Given the description of an element on the screen output the (x, y) to click on. 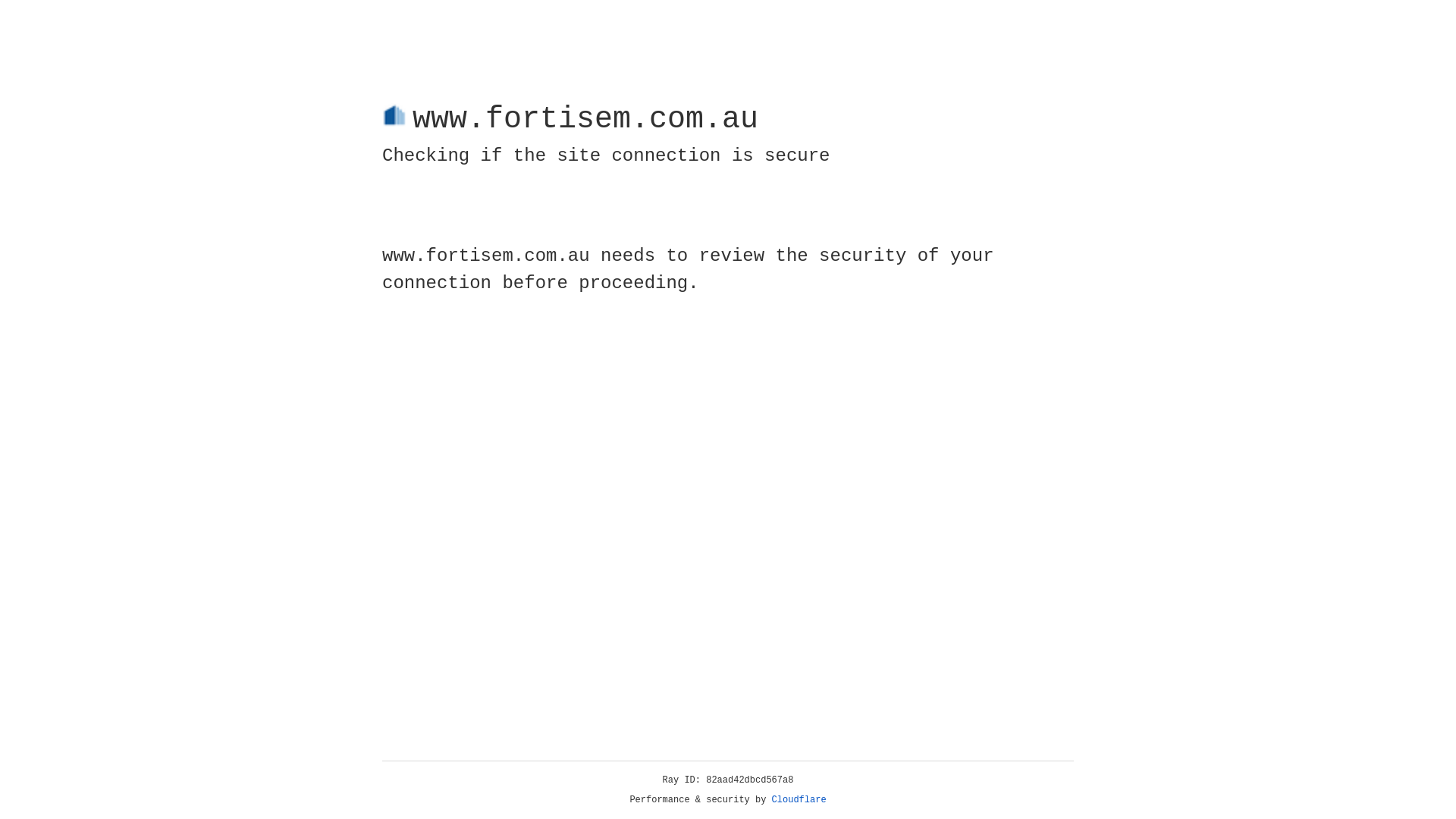
Cloudflare Element type: text (798, 799)
